Given the description of an element on the screen output the (x, y) to click on. 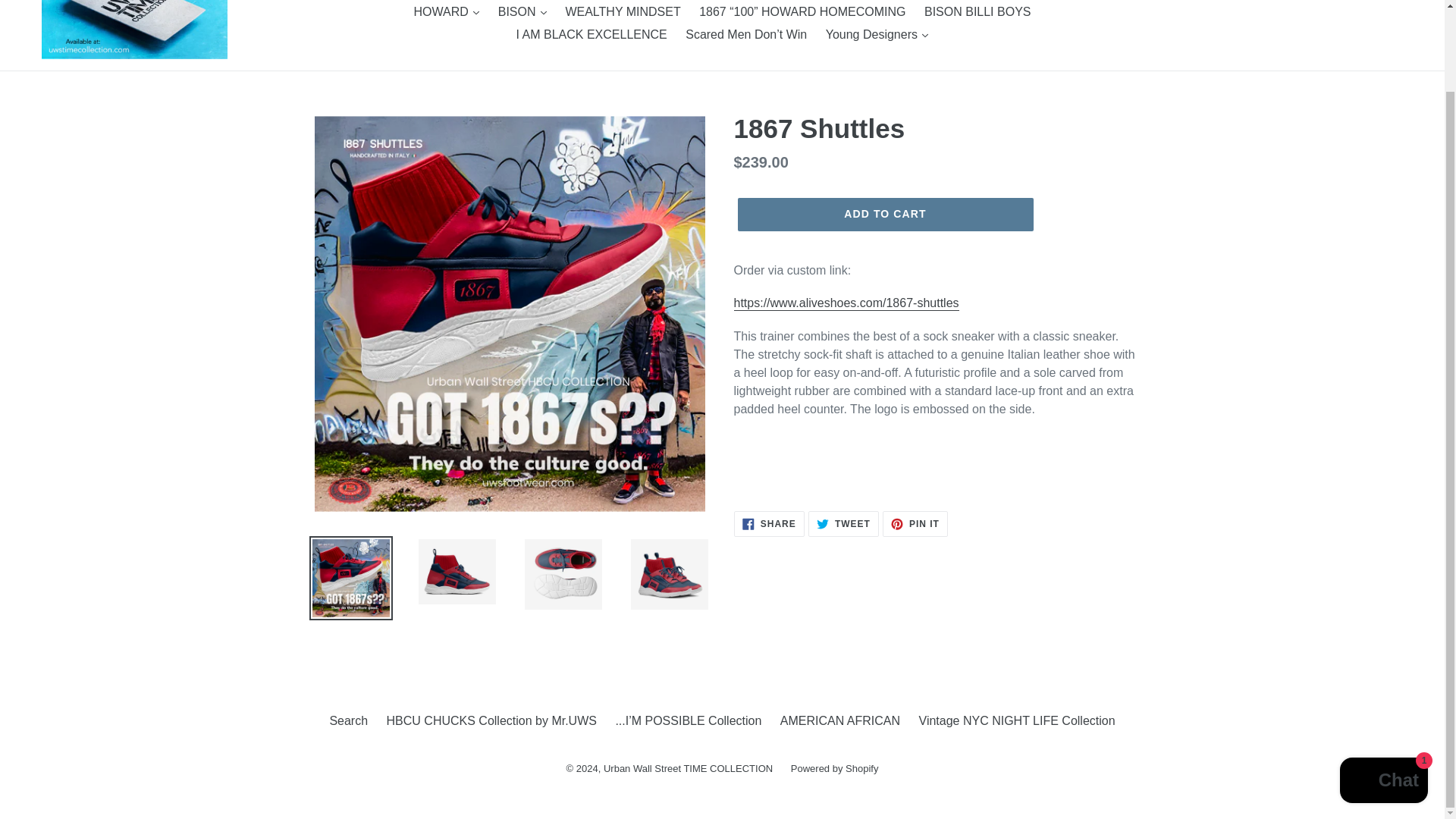
Shopify online store chat (1383, 689)
